Given the description of an element on the screen output the (x, y) to click on. 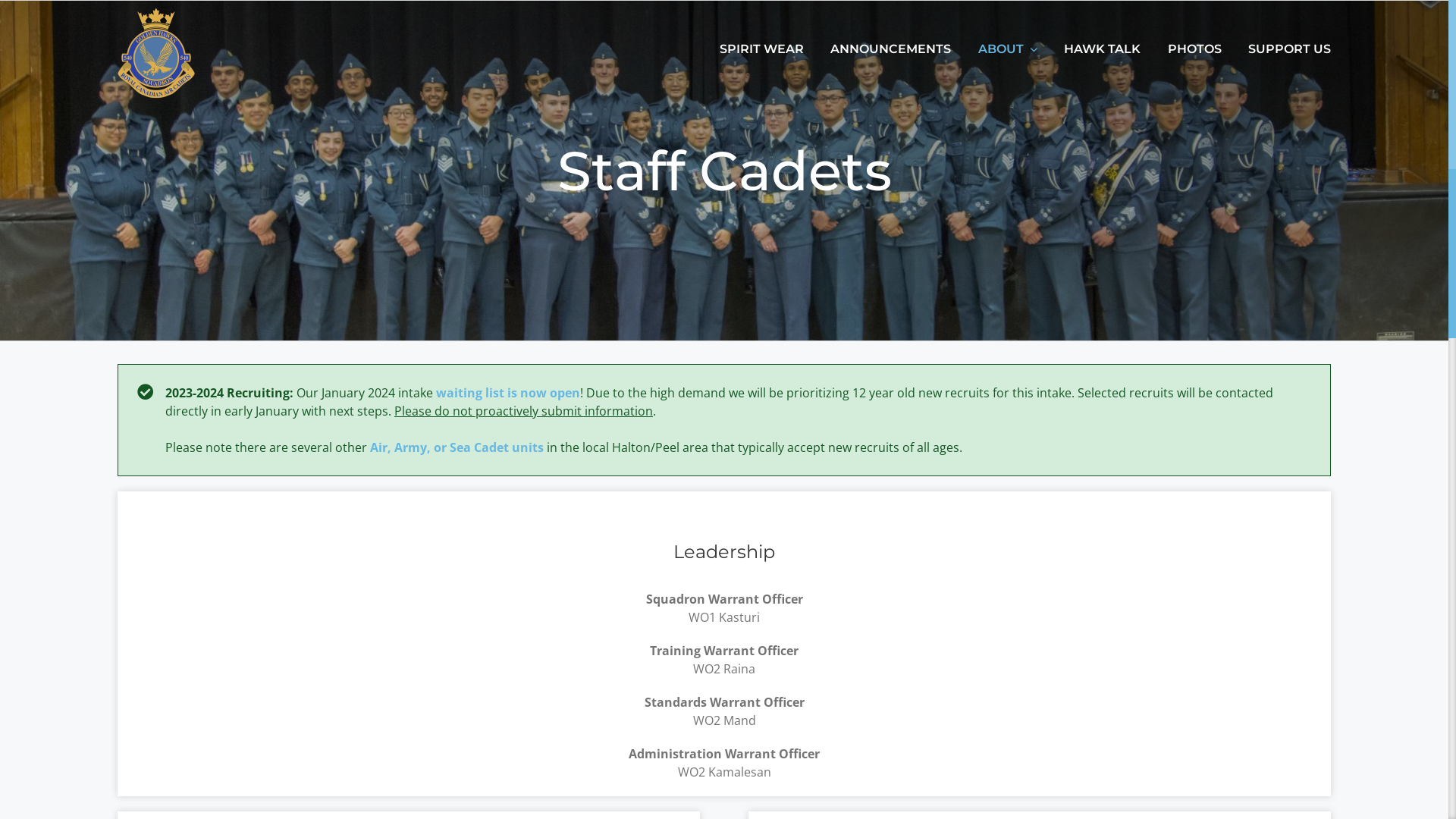
SUPPORT US Element type: text (1289, 48)
ABOUT Element type: text (1000, 48)
SPIRIT WEAR Element type: text (761, 48)
ANNOUNCEMENTS Element type: text (890, 48)
waiting list is now open Element type: text (508, 392)
PHOTOS Element type: text (1194, 48)
Air, Army, or Sea Cadet units Element type: text (456, 447)
HAWK TALK Element type: text (1101, 48)
